Given the description of an element on the screen output the (x, y) to click on. 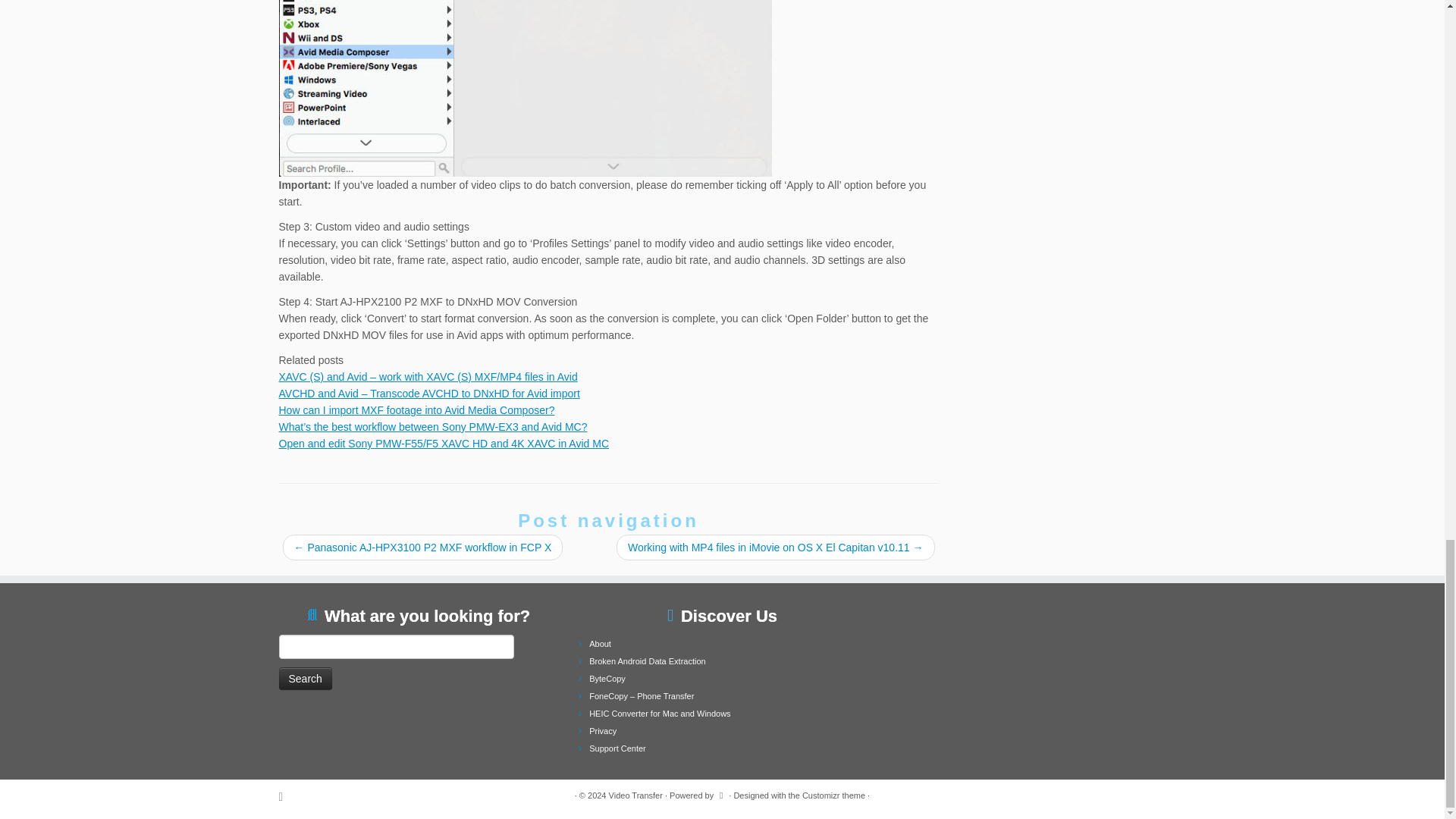
Customizr theme (833, 795)
Powered by WordPress (721, 792)
Search (305, 678)
Video Transfer (635, 795)
Follow us on Rss (286, 796)
